Given the description of an element on the screen output the (x, y) to click on. 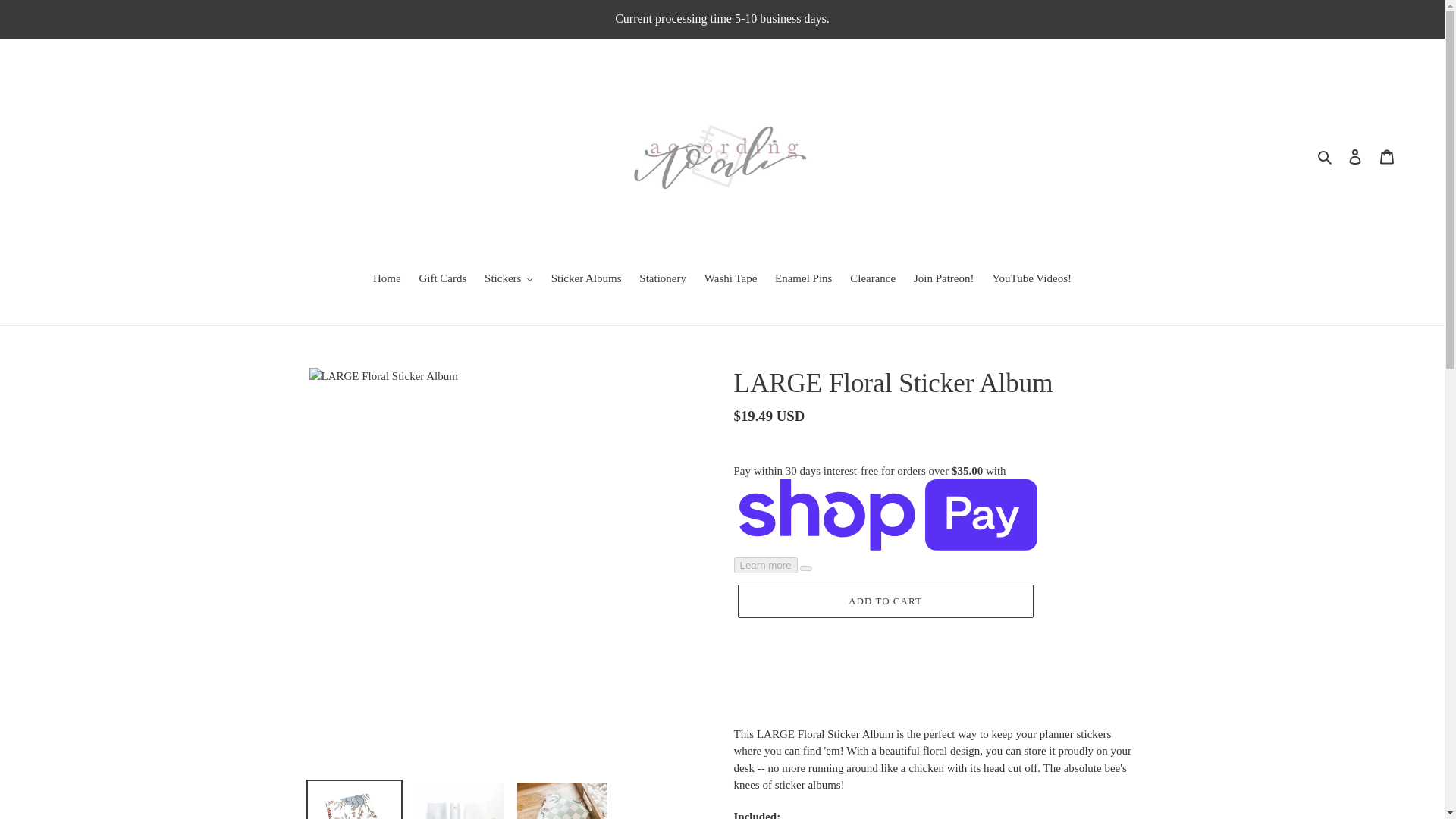
Log in (1355, 156)
Search (1326, 156)
Cart (1387, 156)
